Given the description of an element on the screen output the (x, y) to click on. 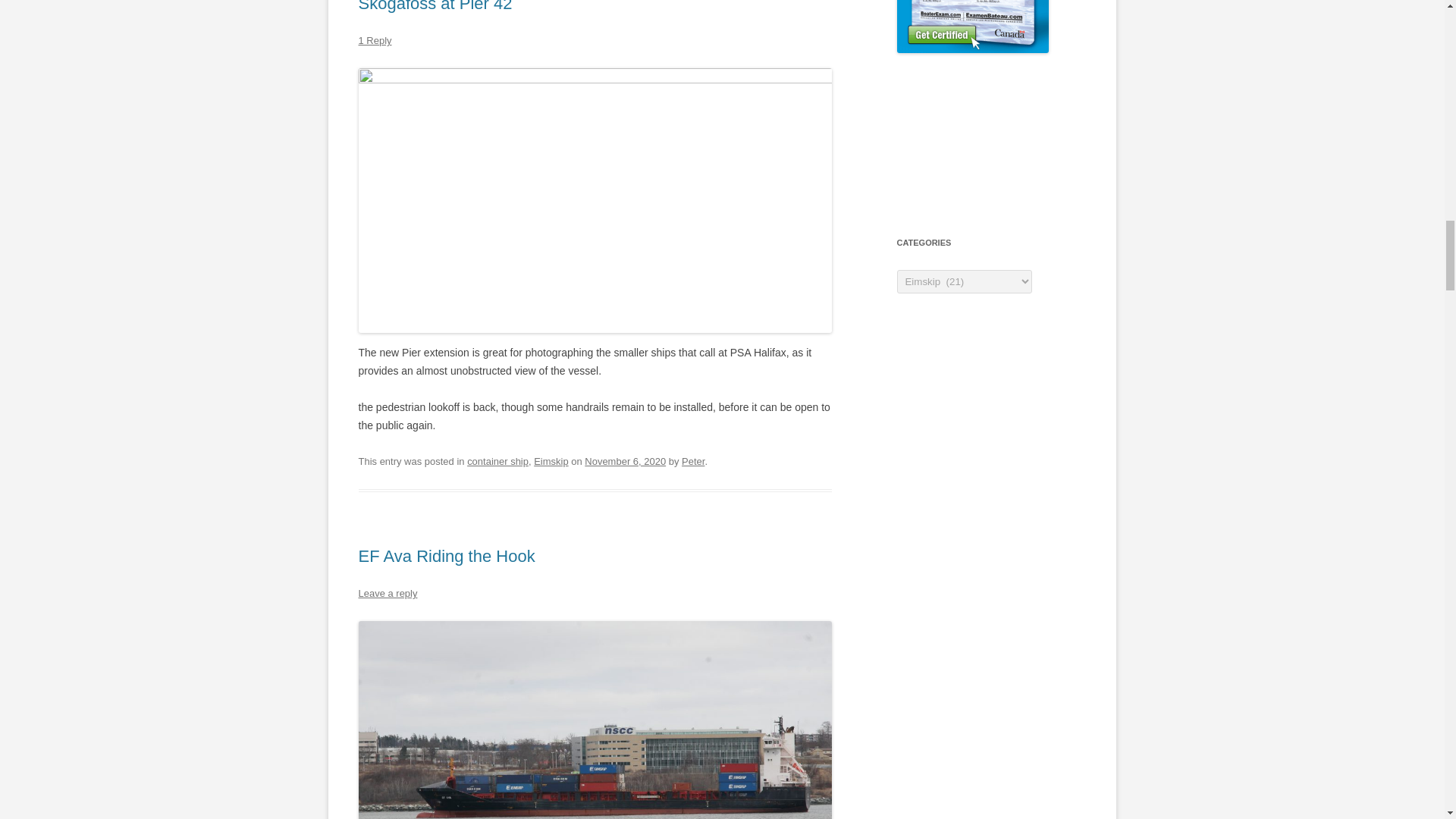
2:37 pm (625, 460)
View all posts by Peter (692, 460)
Skogafoss at Pier 42 (435, 6)
